Given the description of an element on the screen output the (x, y) to click on. 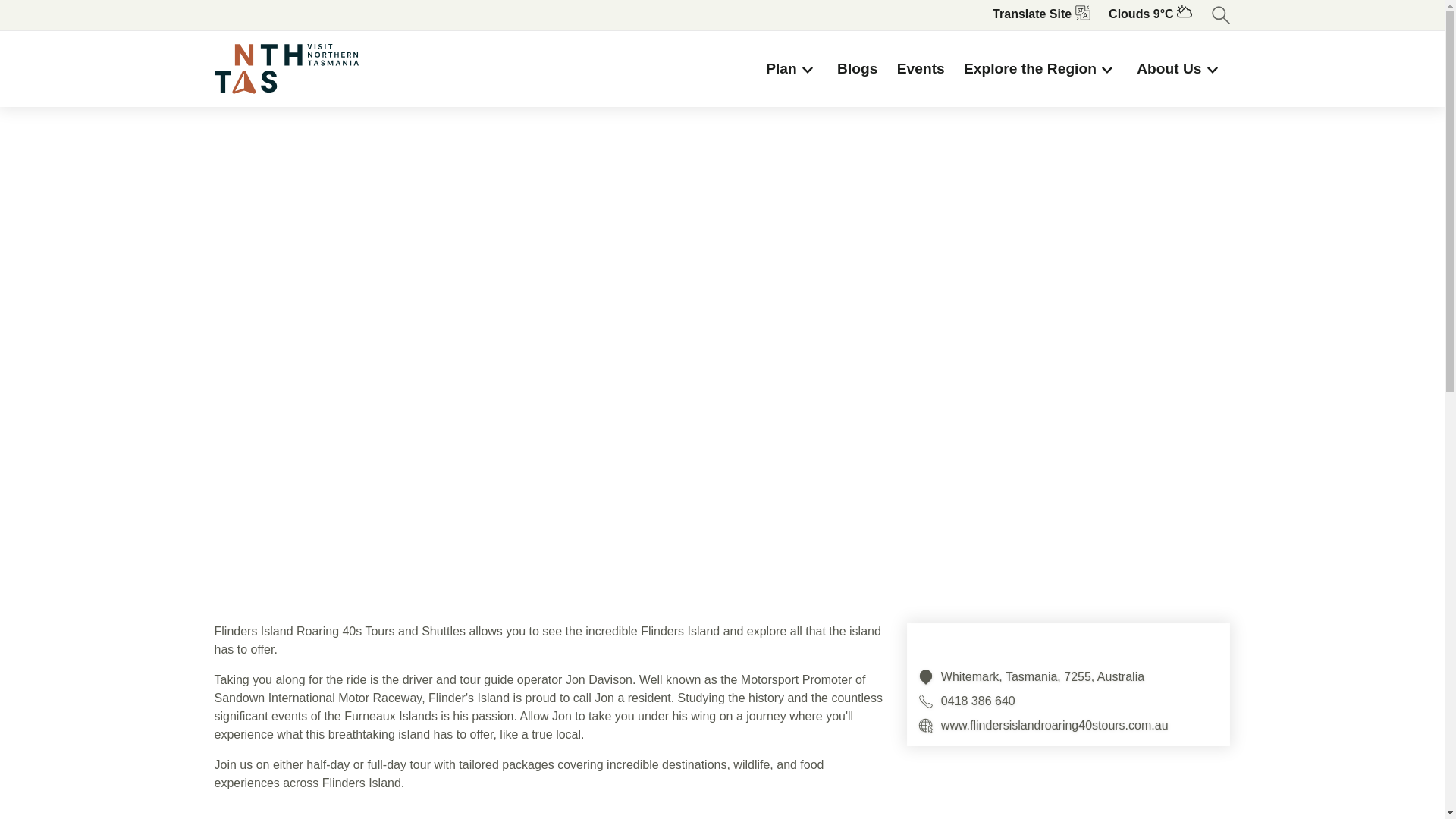
URL Enquiries (925, 725)
Explore the Region (1040, 69)
About Us (1179, 69)
Plan (791, 69)
